Given the description of an element on the screen output the (x, y) to click on. 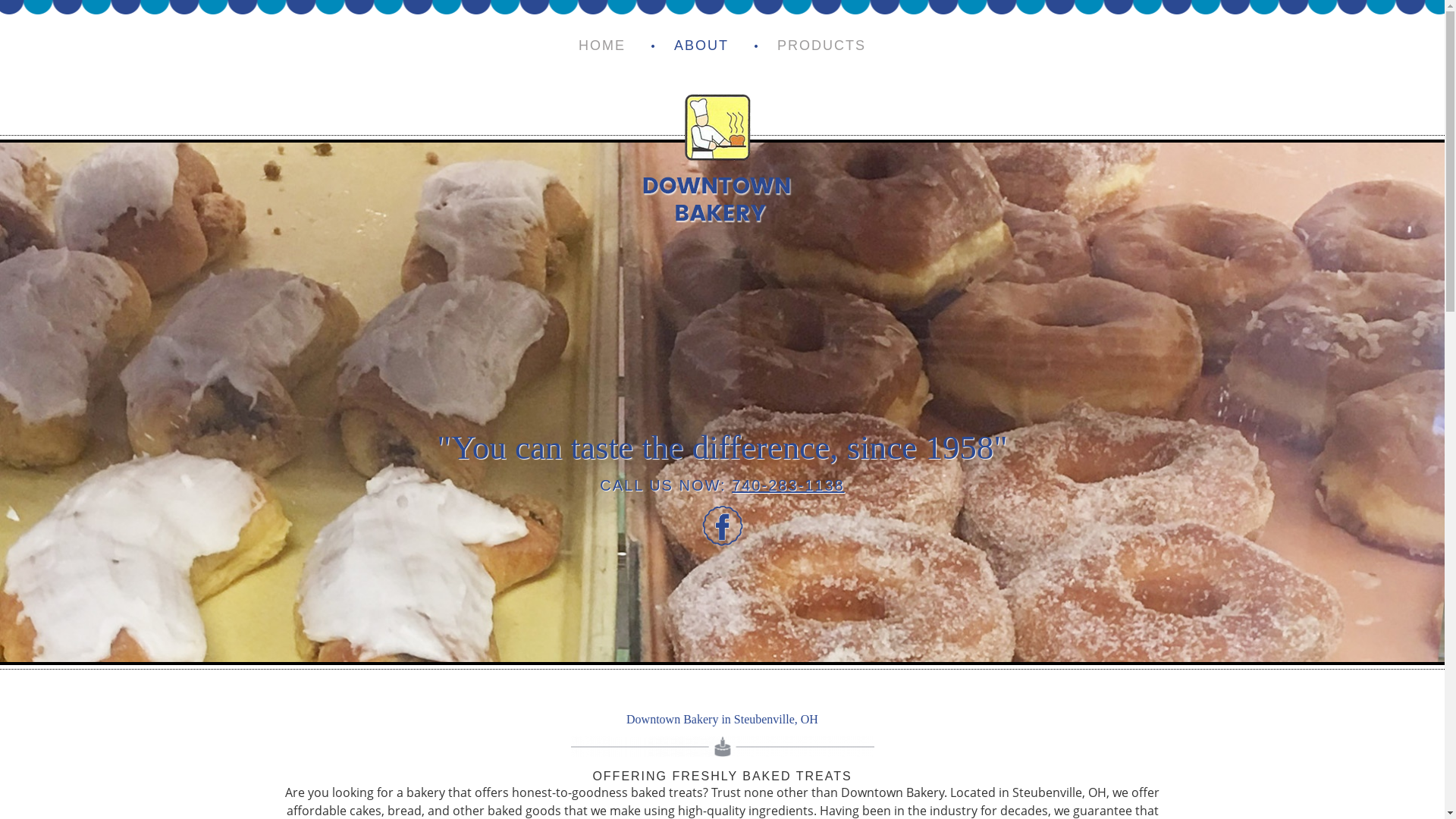
Home (601, 46)
Products (821, 46)
Go to site home page (717, 149)
HOME (601, 46)
740-283-1138 (788, 484)
ABOUT (700, 46)
PRODUCTS (821, 46)
Products (700, 46)
